Given the description of an element on the screen output the (x, y) to click on. 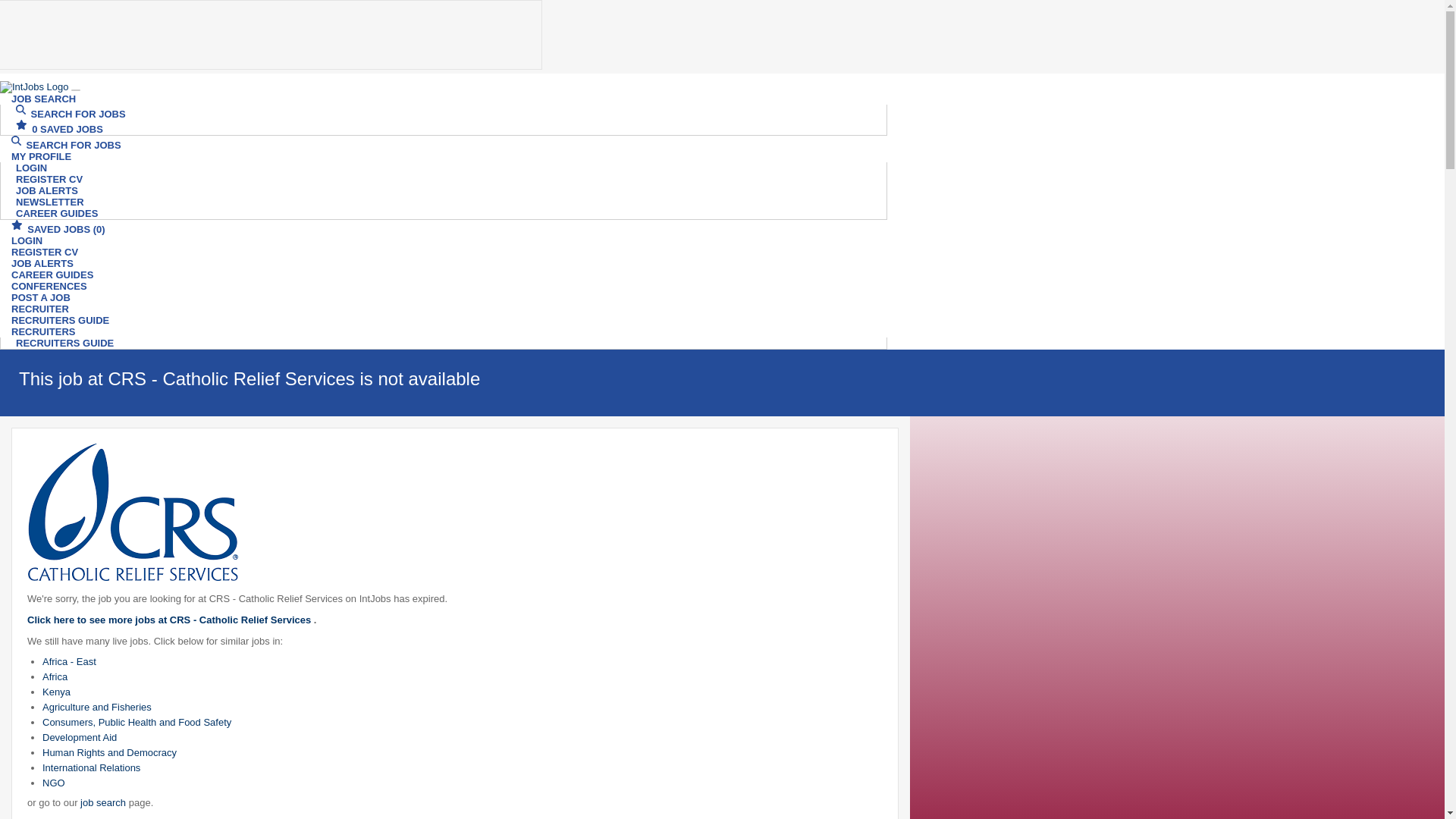
POST A JOB (40, 297)
LOGIN (26, 240)
0 SAVED JOBS (59, 129)
RECRUITERS GUIDE (60, 320)
IntJobs (34, 87)
NEWSLETTER (50, 202)
JOB ALERTS (47, 190)
LOGIN (31, 167)
RECRUITER (40, 308)
AidEx 2024 (270, 34)
